Given the description of an element on the screen output the (x, y) to click on. 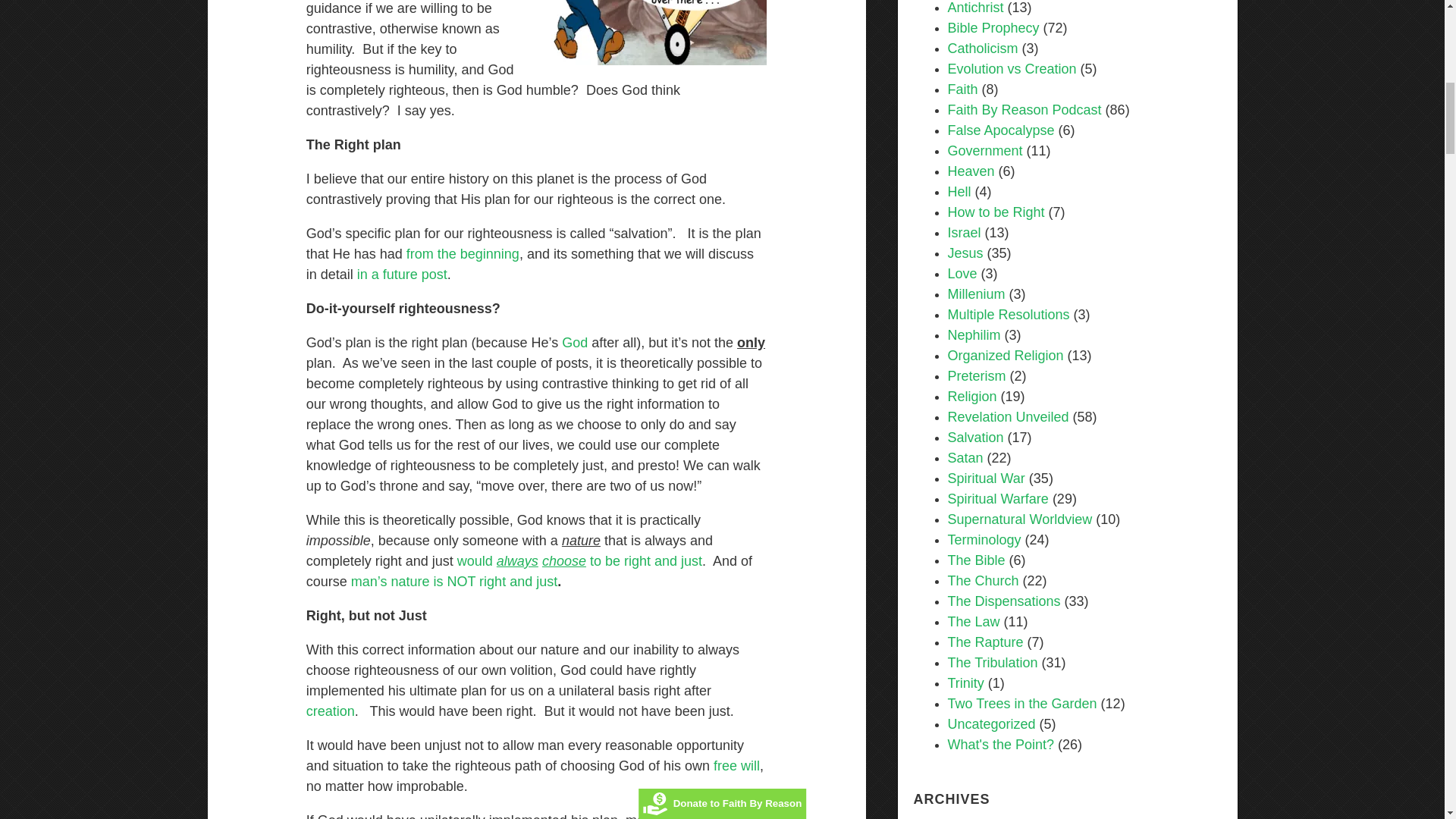
would always choose to be right and just (579, 560)
in a future post (401, 273)
New Throne Room (652, 32)
from the beginning (462, 253)
And now, a Word from our sponsor (575, 342)
God (575, 342)
free will (736, 765)
creation (330, 711)
Its All Your Fault (736, 765)
Its All Your Fault (453, 581)
